Given the description of an element on the screen output the (x, y) to click on. 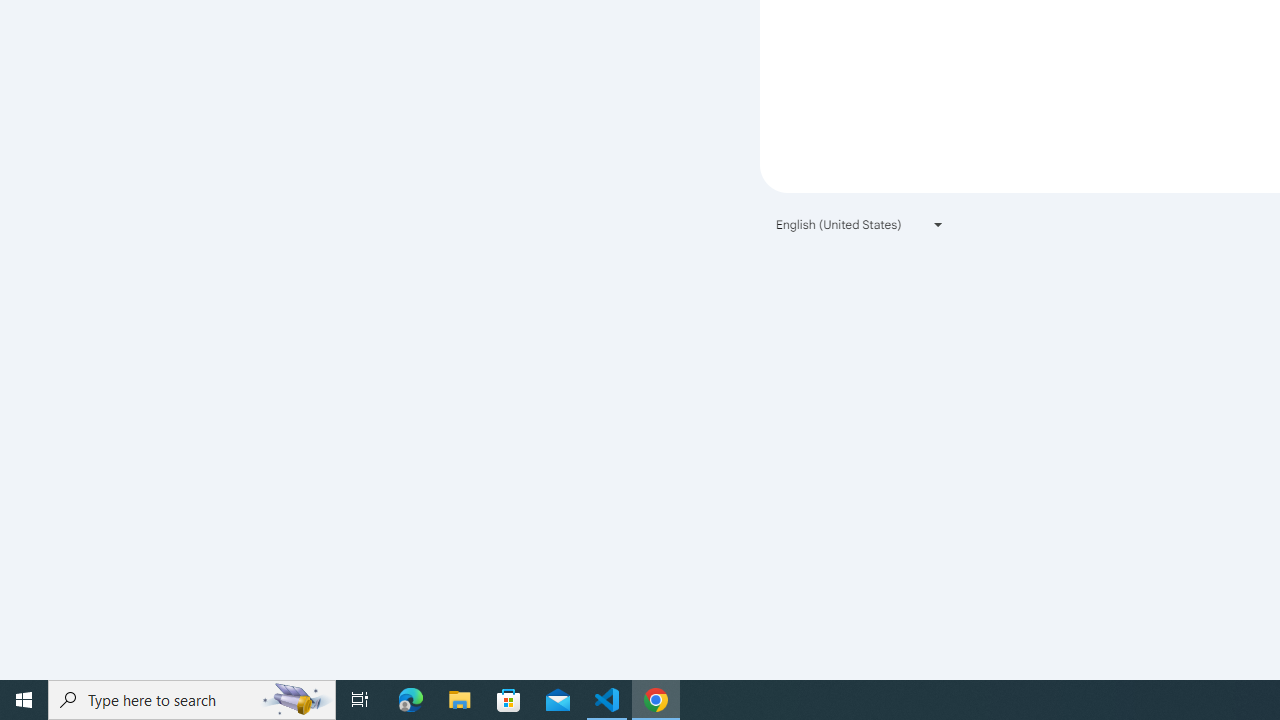
English (United States) (860, 224)
